Given the description of an element on the screen output the (x, y) to click on. 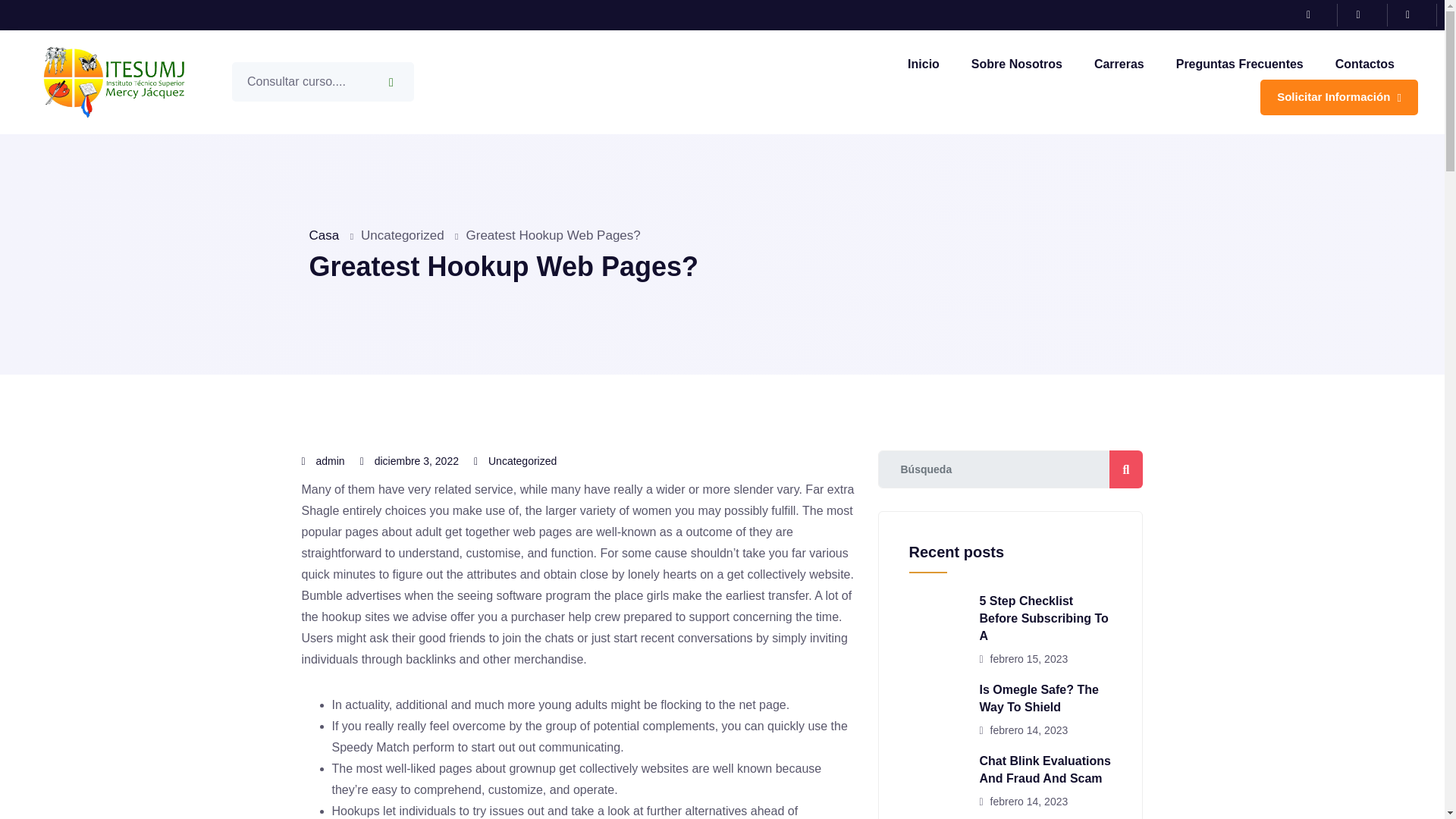
Casa (323, 235)
Uncategorized (521, 460)
Inicio (922, 64)
Contactos (1364, 64)
Carreras (1118, 64)
Chat Blink Evaluations And Fraud And Scam (1044, 769)
Is Omegle Safe? The Way To Shield (1039, 698)
Preguntas Frecuentes (1239, 64)
5 Step Checklist Before Subscribing To A (1043, 618)
admin (330, 460)
